Given the description of an element on the screen output the (x, y) to click on. 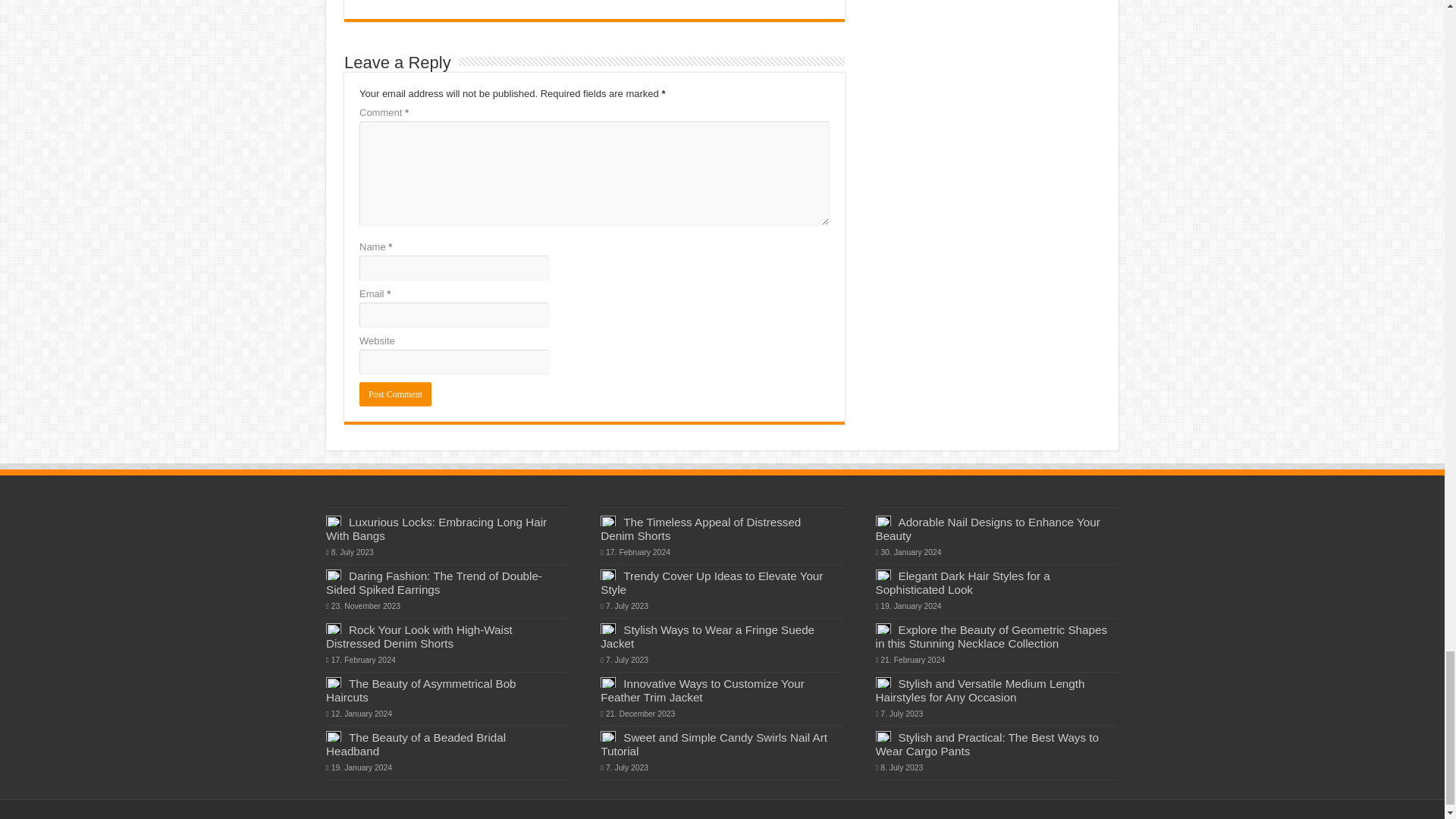
Daring Fashion: The Trend of Double-Sided Spiked Earrings (433, 582)
Rock Your Look with High-Waist Distressed Denim Shorts (419, 636)
Luxurious Locks: Embracing Long Hair With Bangs (436, 528)
Post Comment (394, 394)
The Beauty of Asymmetrical Bob Haircuts (421, 690)
The Beauty of a Beaded Bridal Headband (415, 744)
The Timeless Appeal of Distressed Denim Shorts (699, 528)
Post Comment (394, 394)
